Given the description of an element on the screen output the (x, y) to click on. 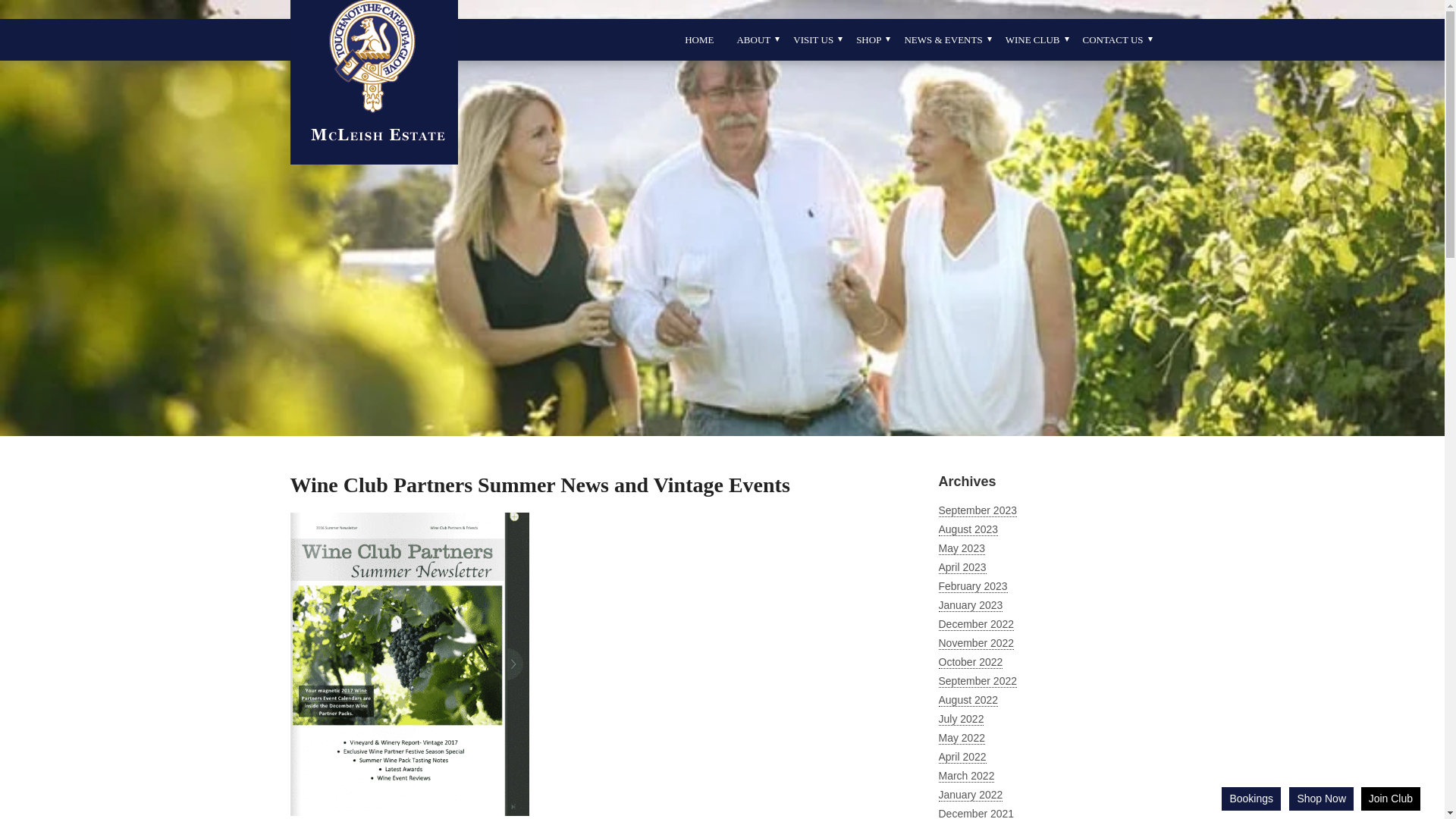
Shop Now Element type: text (1321, 798)
July 2022 Element type: text (961, 718)
Bookings Element type: text (1251, 798)
February 2023 Element type: text (972, 586)
September 2022 Element type: text (977, 680)
March 2022 Element type: text (966, 775)
August 2022 Element type: text (968, 699)
WINE CLUB Element type: text (1032, 39)
Join Club Element type: text (1390, 798)
October 2022 Element type: text (970, 661)
SHOP Element type: text (868, 39)
NEWS & EVENTS Element type: text (942, 39)
VISIT US Element type: text (812, 39)
May 2022 Element type: text (961, 737)
HOME Element type: text (698, 39)
January 2022 Element type: text (970, 794)
Hunter Valley Vineyard, Cellar Door and Function Room Cafe Element type: hover (373, 156)
September 2023 Element type: text (977, 510)
January 2023 Element type: text (970, 605)
April 2023 Element type: text (962, 567)
Wine Club Partners Summer News and Vintage Events - Element type: hover (408, 664)
August 2023 Element type: text (968, 529)
April 2022 Element type: text (962, 756)
ABOUT Element type: text (752, 39)
December 2022 Element type: text (976, 624)
November 2022 Element type: text (976, 643)
May 2023 Element type: text (961, 548)
CONTACT US Element type: text (1112, 39)
